Given the description of an element on the screen output the (x, y) to click on. 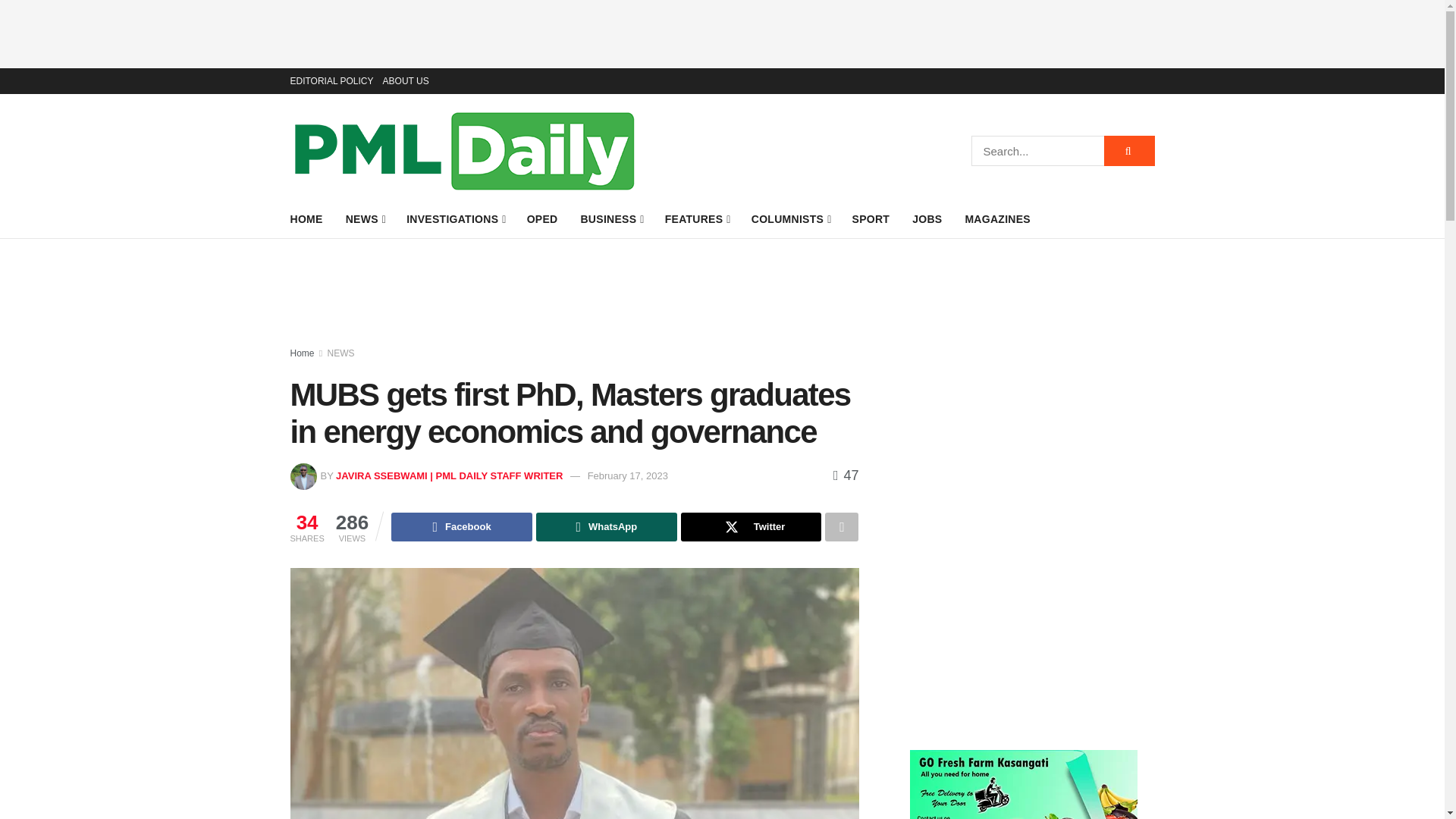
EDITORIAL POLICY (330, 80)
NEWS (365, 219)
JOBS (927, 219)
FEATURES (697, 219)
BUSINESS (610, 219)
MAGAZINES (996, 219)
HOME (305, 219)
INVESTIGATIONS (454, 219)
OPED (542, 219)
COLUMNISTS (790, 219)
